Given the description of an element on the screen output the (x, y) to click on. 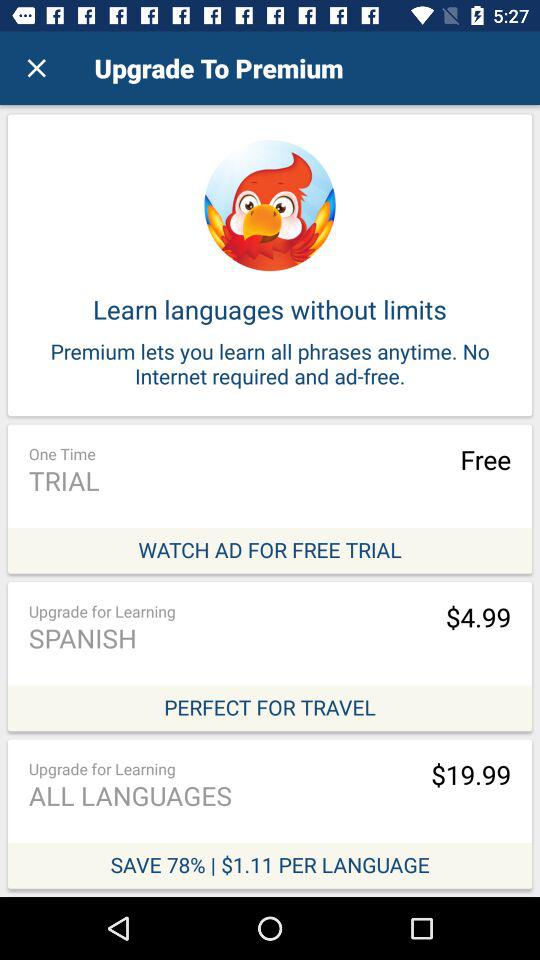
open the icon to the left of upgrade to premium icon (36, 68)
